Given the description of an element on the screen output the (x, y) to click on. 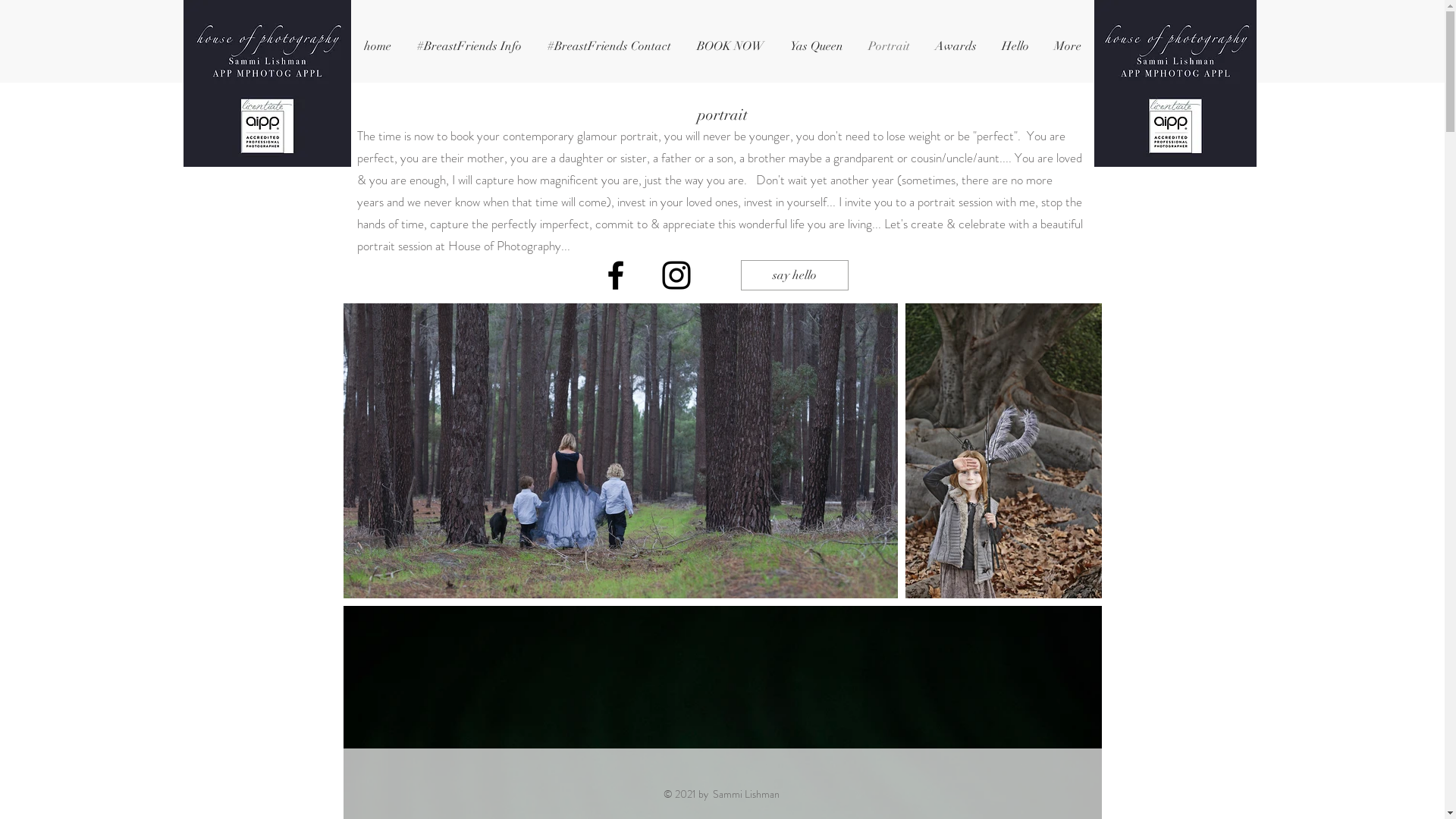
say hello Element type: text (793, 275)
Hello Element type: text (1014, 46)
home Element type: text (376, 46)
#BreastFriends Info Element type: text (468, 46)
BOOK NOW Element type: text (730, 46)
Portrait Element type: text (888, 46)
#BreastFriends Contact Element type: text (608, 46)
Awards Element type: text (955, 46)
Yas Queen Element type: text (815, 46)
